Given the description of an element on the screen output the (x, y) to click on. 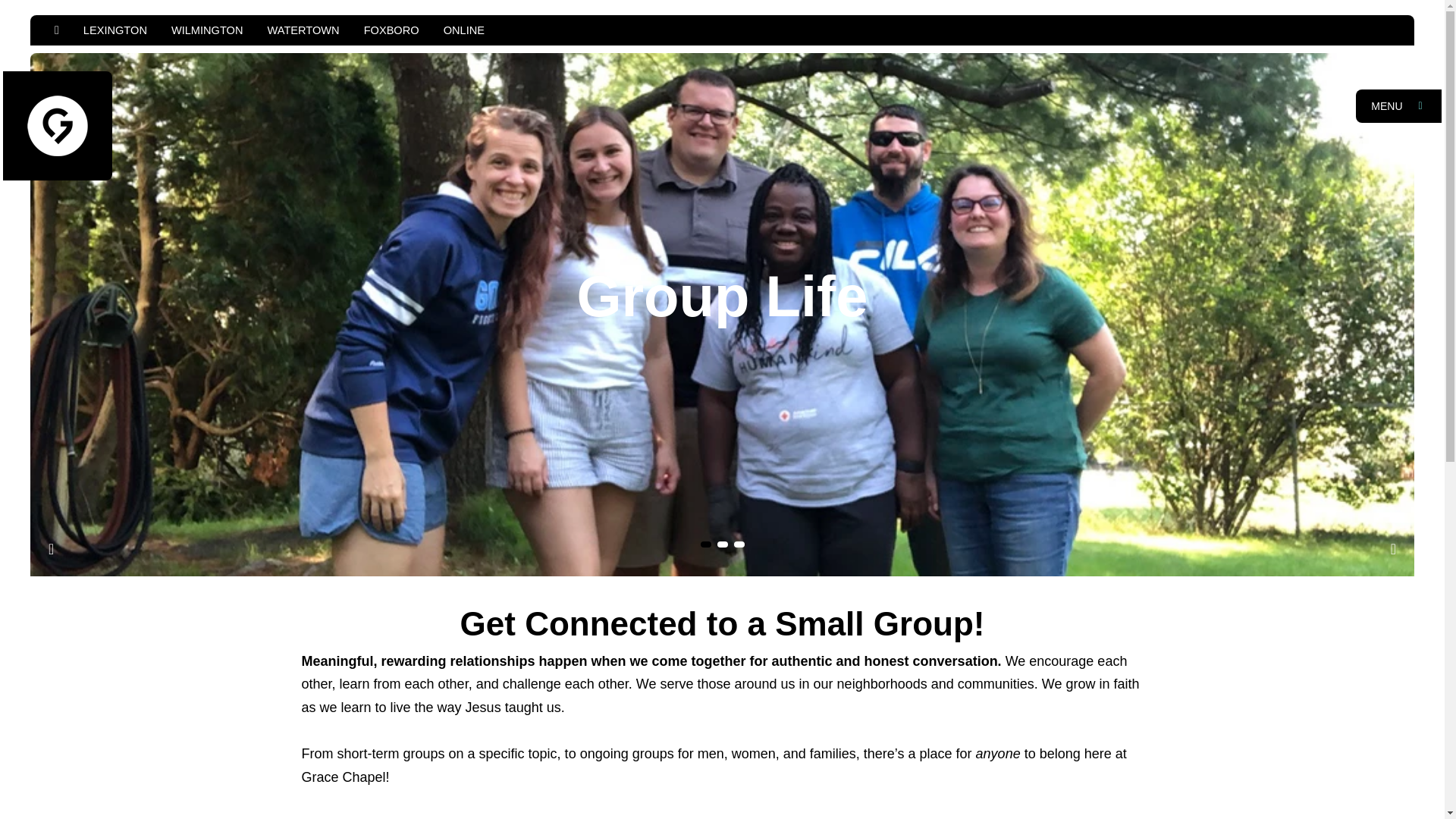
LEXINGTON (114, 30)
WATERTOWN (304, 30)
ONLINE (463, 30)
MENU (1398, 105)
WILMINGTON (207, 30)
FOXBORO (391, 30)
